Given the description of an element on the screen output the (x, y) to click on. 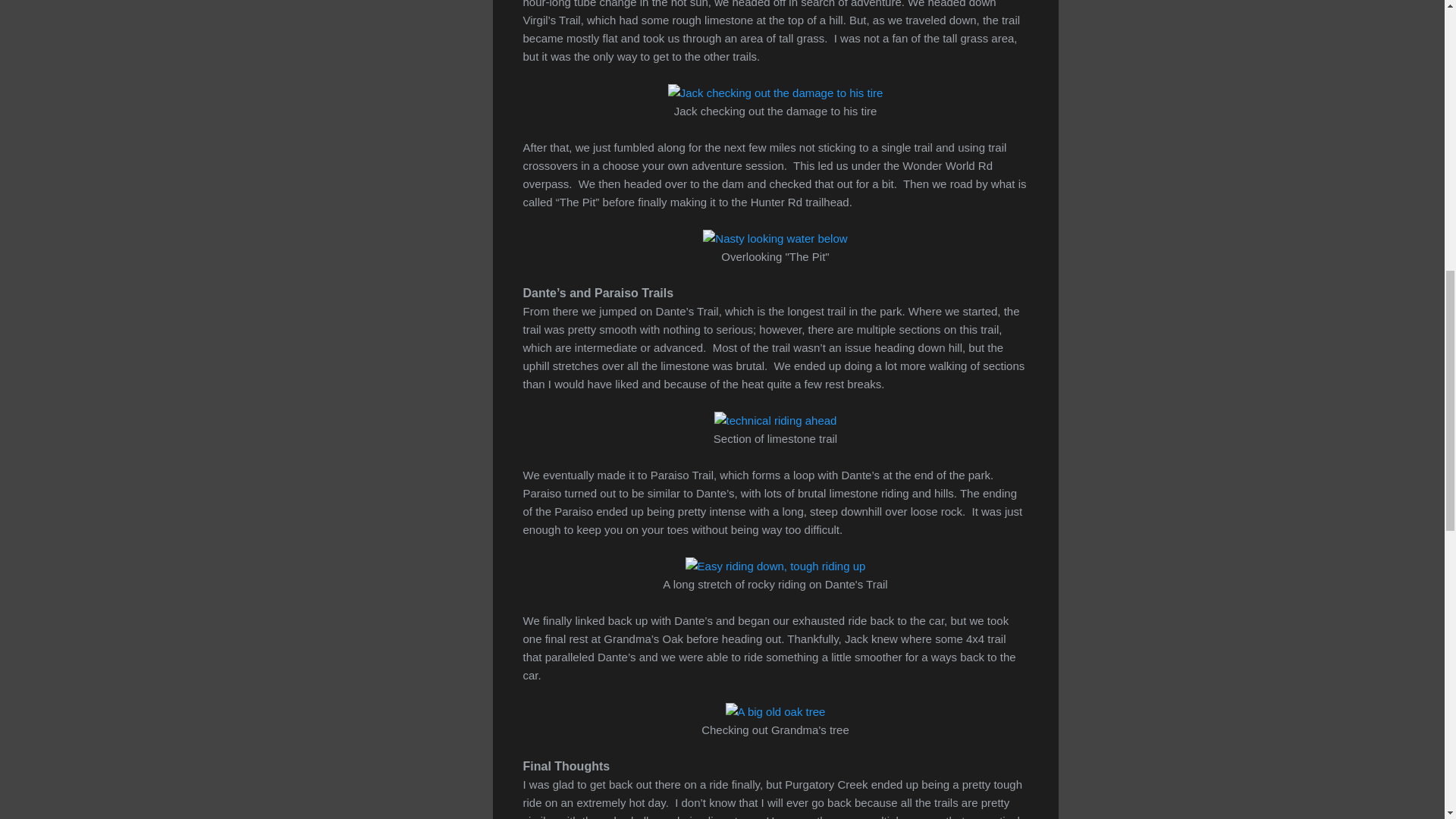
Section of limestone trail (775, 420)
A long stretch of rocky riding on Dante's Trail (775, 566)
Overlooking "The Pit" (775, 239)
Jack Gets a Flat (775, 93)
